Given the description of an element on the screen output the (x, y) to click on. 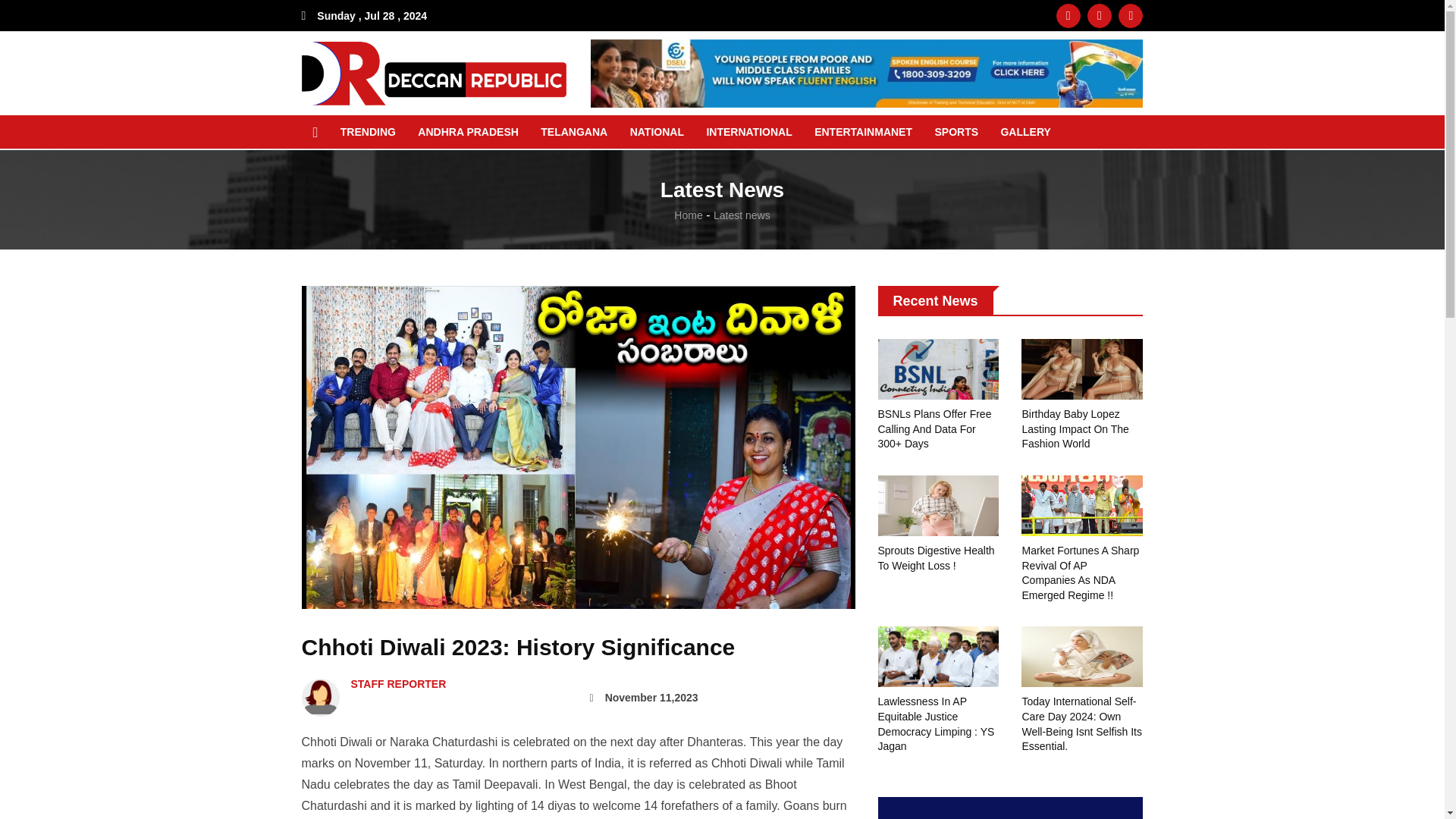
TRENDING (368, 131)
TELANGANA (573, 131)
ANDHRA PRADESH (467, 131)
INTERNATIONAL (748, 131)
ENTERTAINMANET (863, 131)
GALLERY (1024, 131)
NATIONAL (656, 131)
SPORTS (956, 131)
